Given the description of an element on the screen output the (x, y) to click on. 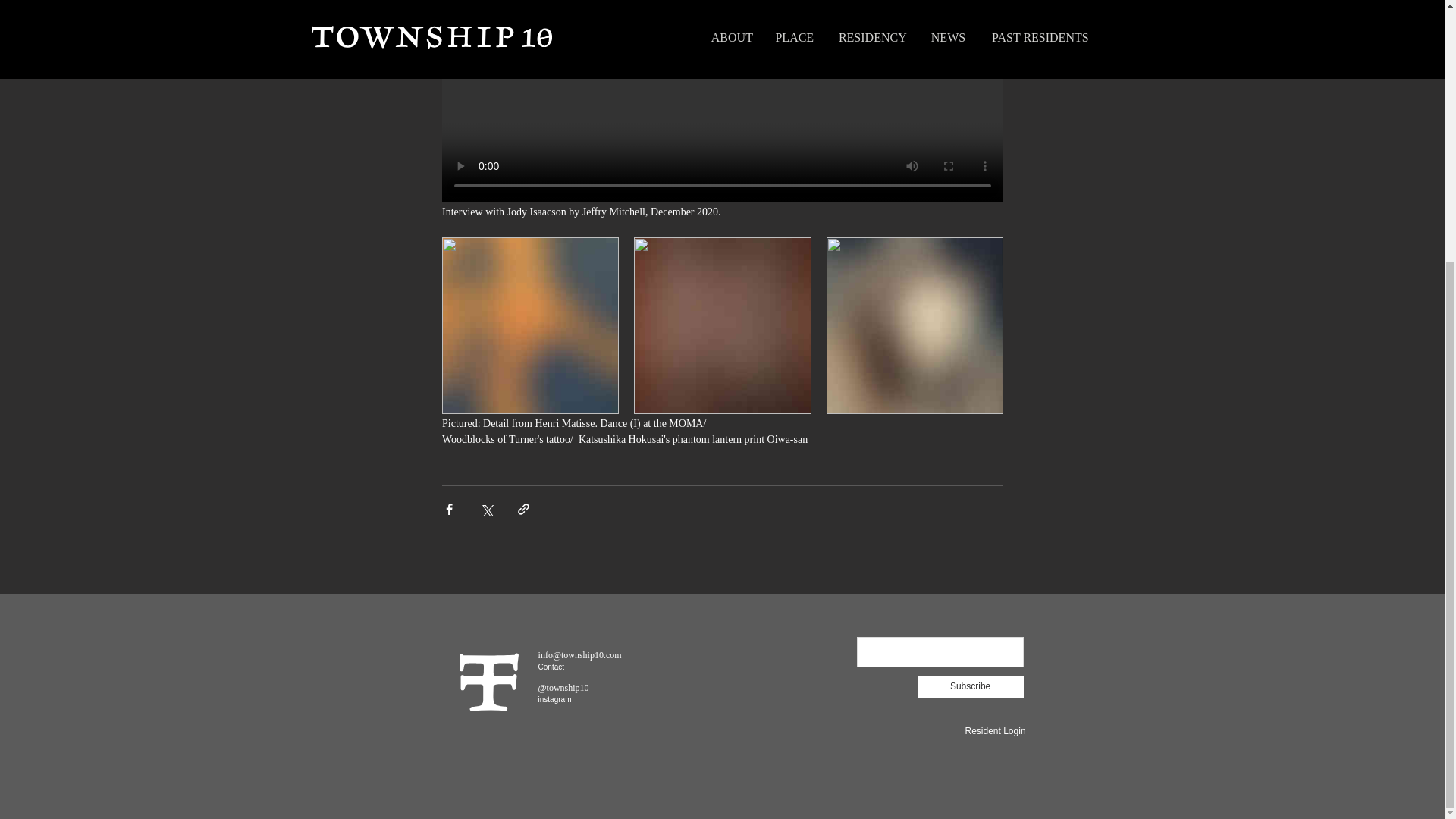
Resident Login (994, 730)
Subscribe (970, 686)
